Given the description of an element on the screen output the (x, y) to click on. 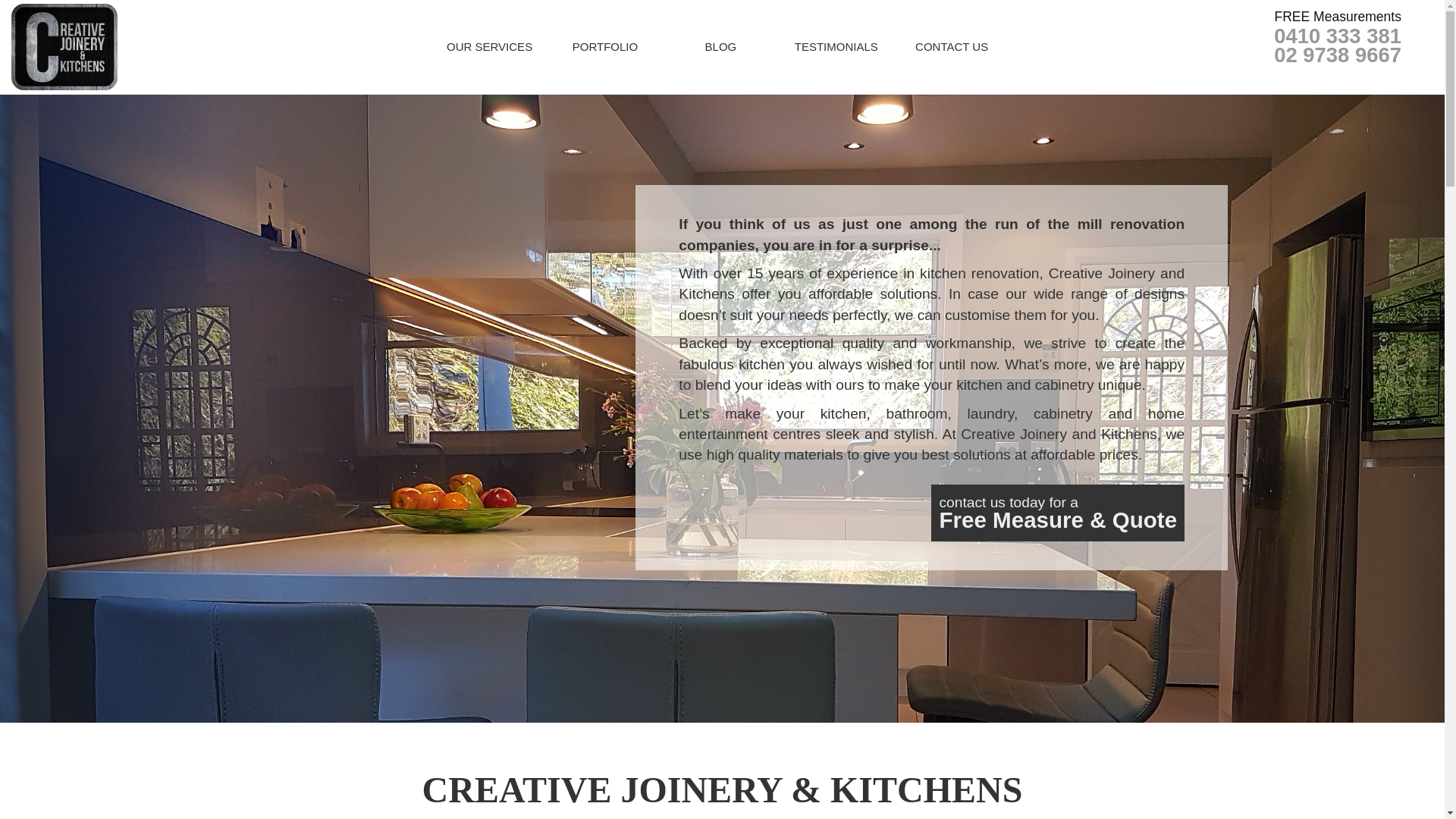
CONTACT US Element type: text (951, 46)
FREE Measurements Element type: text (1329, 16)
TESTIMONIALS Element type: text (836, 46)
OUR SERVICES Element type: text (488, 46)
contact us today for a
Free Measure & Quote Element type: text (1057, 512)
BLOG Element type: text (720, 46)
02 9738 9667 Element type: text (1329, 54)
PORTFOLIO Element type: text (604, 46)
0410 333 381 Element type: text (1329, 35)
